Given the description of an element on the screen output the (x, y) to click on. 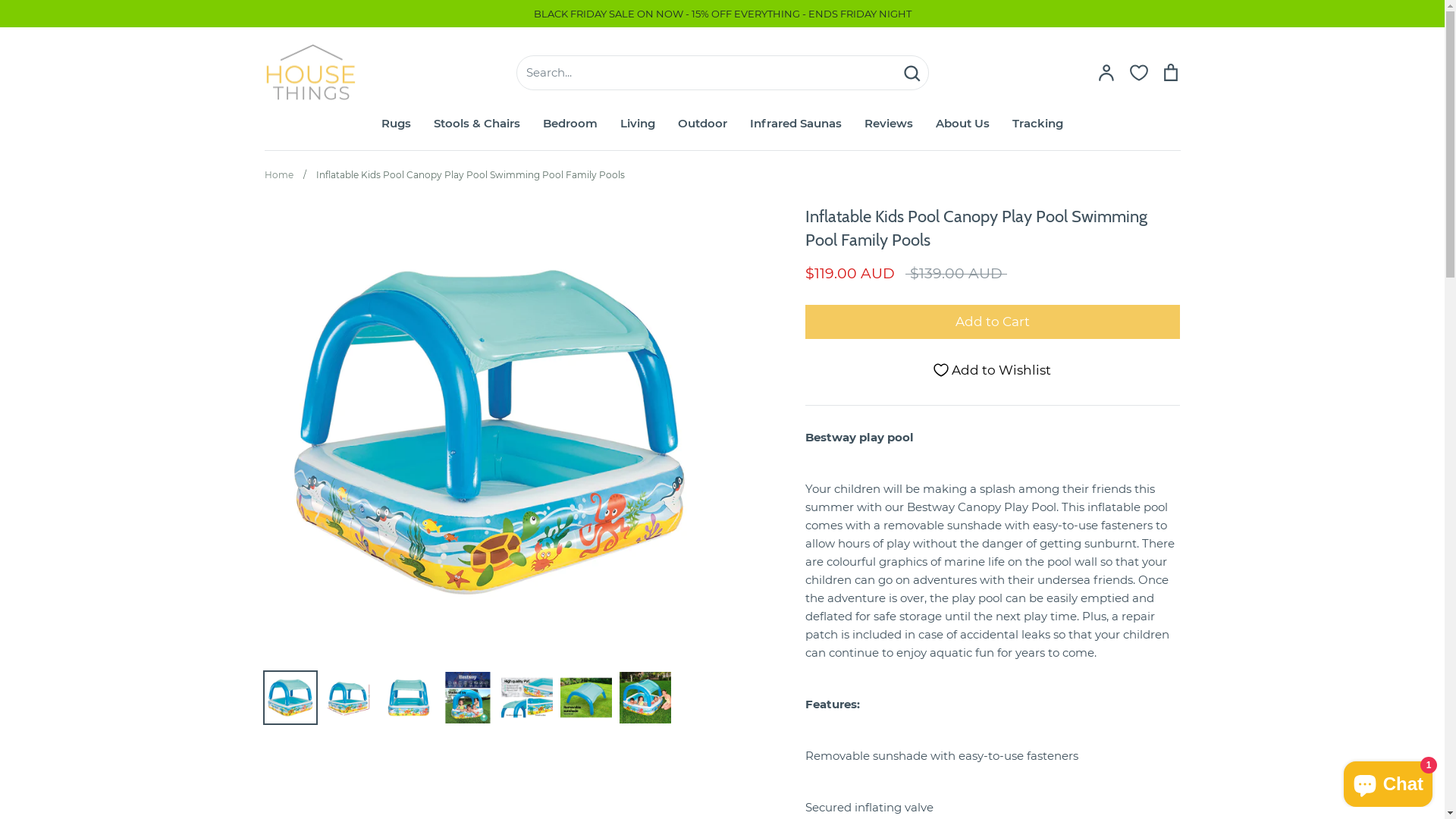
Reviews Element type: text (888, 123)
Infrared Saunas Element type: text (795, 123)
Shopify online store chat Element type: hover (1388, 780)
Outdoor Element type: text (702, 123)
Add to Wishlist Element type: text (992, 369)
Living Element type: text (637, 123)
Tracking Element type: text (1037, 123)
Rugs Element type: text (396, 123)
Bedroom Element type: text (569, 123)
Home Element type: text (277, 174)
Add to Cart Element type: text (992, 321)
Account Element type: text (1106, 72)
Cart Element type: text (1169, 72)
About Us Element type: text (962, 123)
View Wishlist Element type: hover (1137, 72)
Stools & Chairs Element type: text (476, 123)
